Given the description of an element on the screen output the (x, y) to click on. 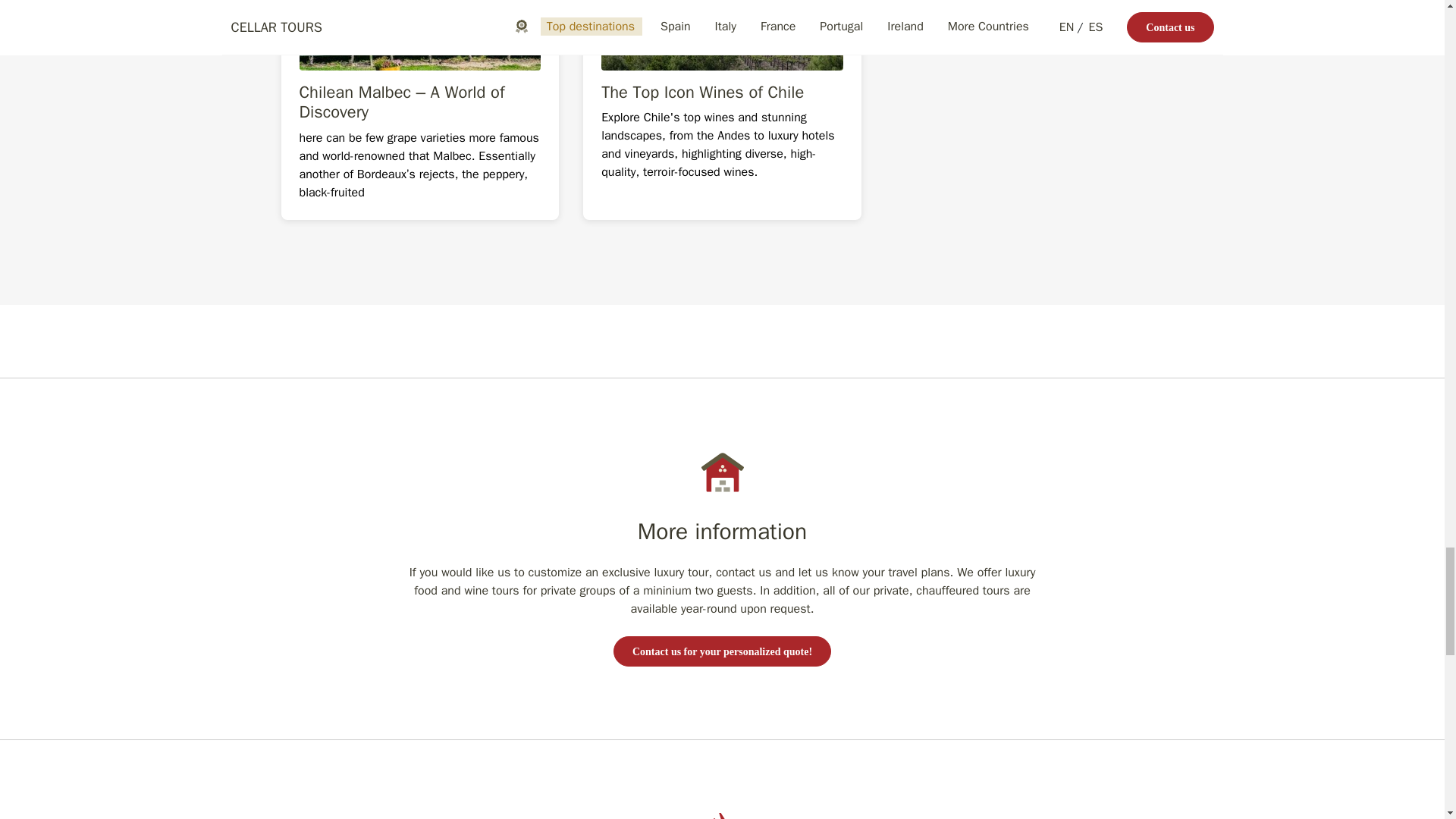
The Top Icon Wines of Chile (722, 110)
